Given the description of an element on the screen output the (x, y) to click on. 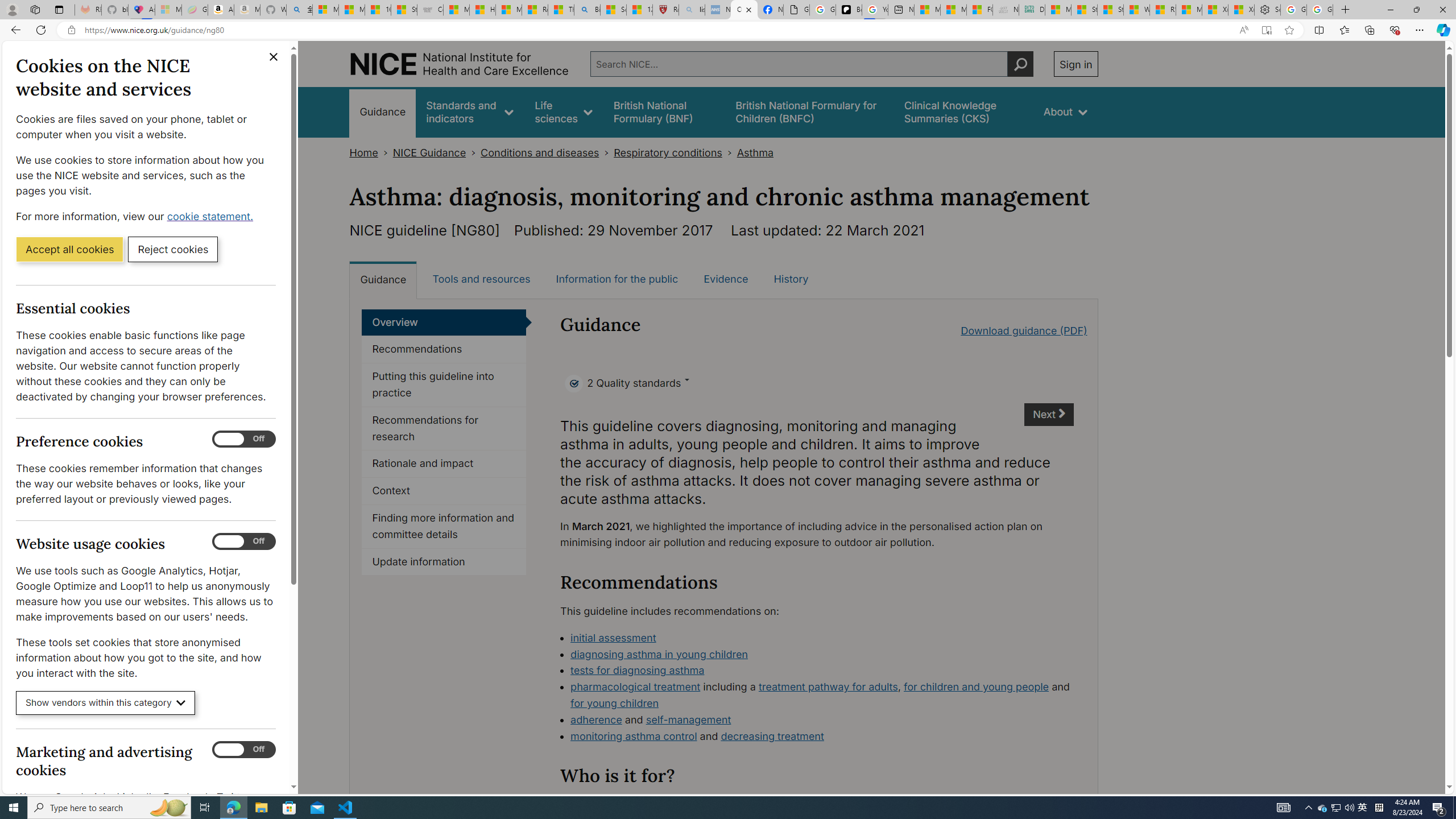
treatment pathway for adults (828, 686)
Tools and resources (481, 279)
Guidance (383, 279)
Perform search (1020, 63)
Information for the public (617, 279)
Be Smart | creating Science videos | Patreon (848, 9)
Rationale and impact (444, 463)
diagnosing asthma in young children (659, 653)
